Given the description of an element on the screen output the (x, y) to click on. 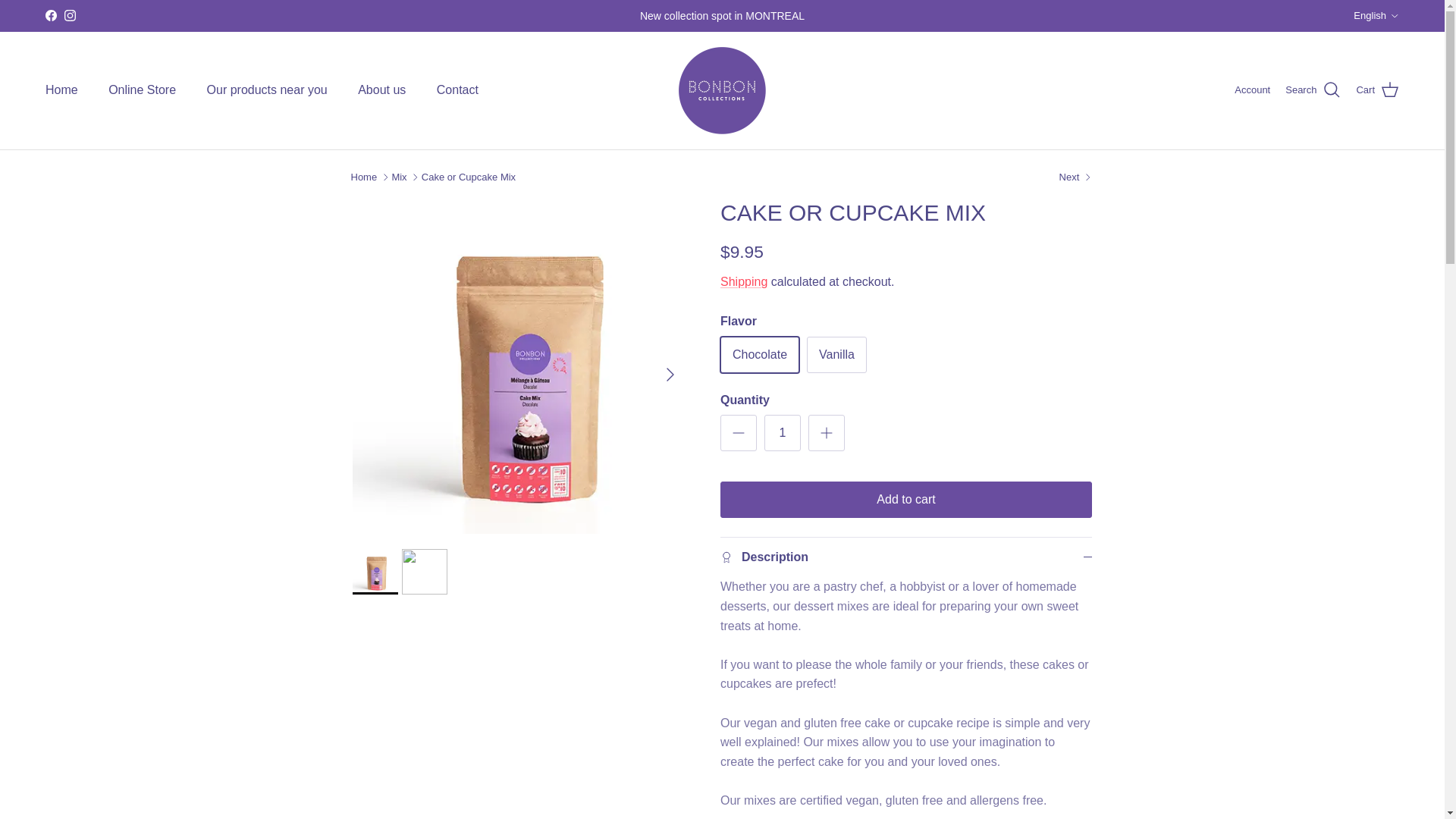
Bonbon Collections on Facebook (50, 15)
Instagram (69, 15)
Search (1312, 89)
Cart (1377, 89)
Facebook (50, 15)
About us (381, 90)
Home (61, 90)
Bonbon Collections (721, 90)
English (1376, 15)
Account (1251, 90)
Our products near you (266, 90)
Contact (457, 90)
1 (782, 432)
Online Store (141, 90)
Bonbon Collections on Instagram (69, 15)
